Given the description of an element on the screen output the (x, y) to click on. 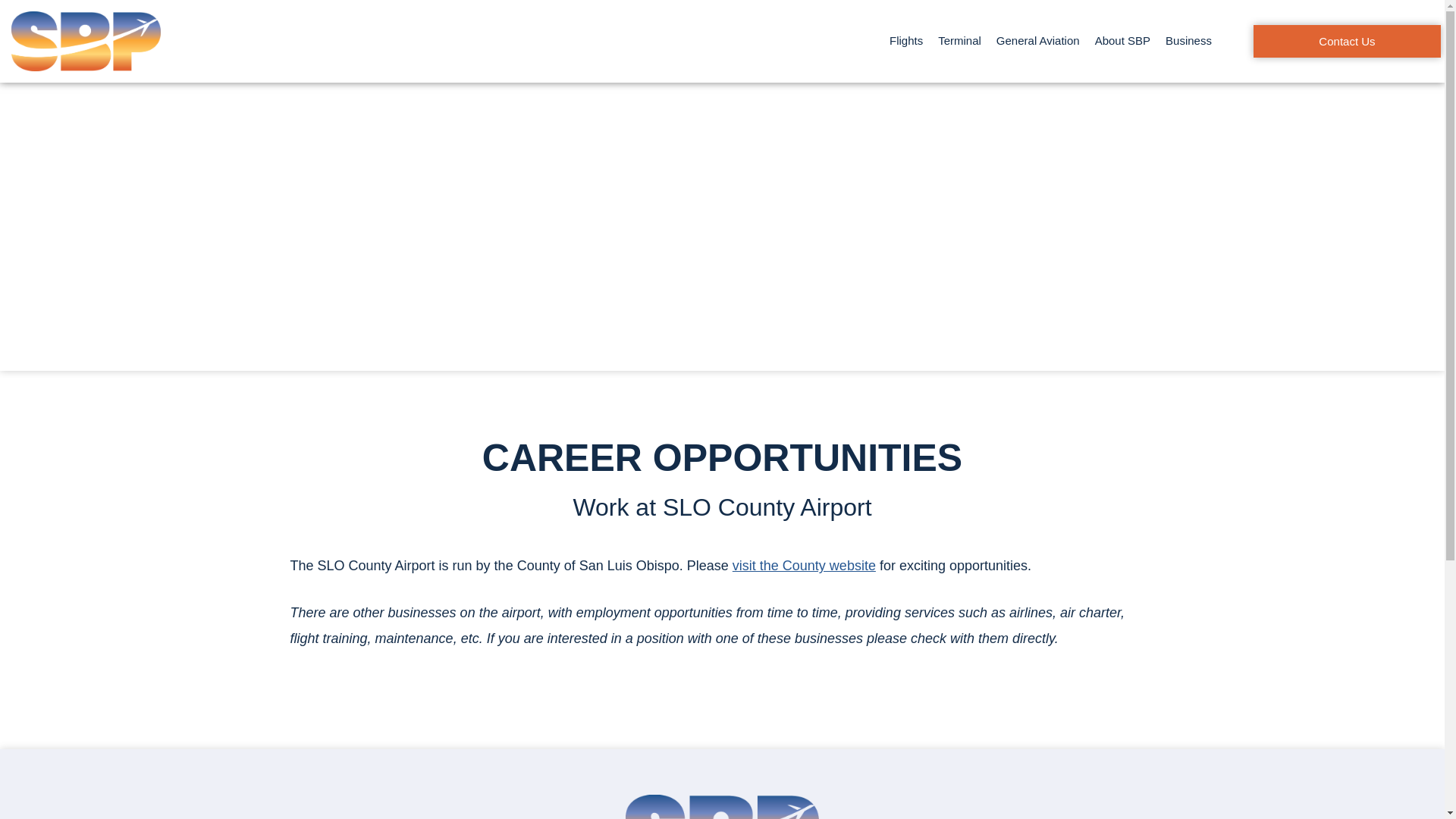
Terminal (959, 40)
General Aviation (1037, 40)
About SBP (1122, 40)
Business (1188, 40)
Flights (906, 40)
